Given the description of an element on the screen output the (x, y) to click on. 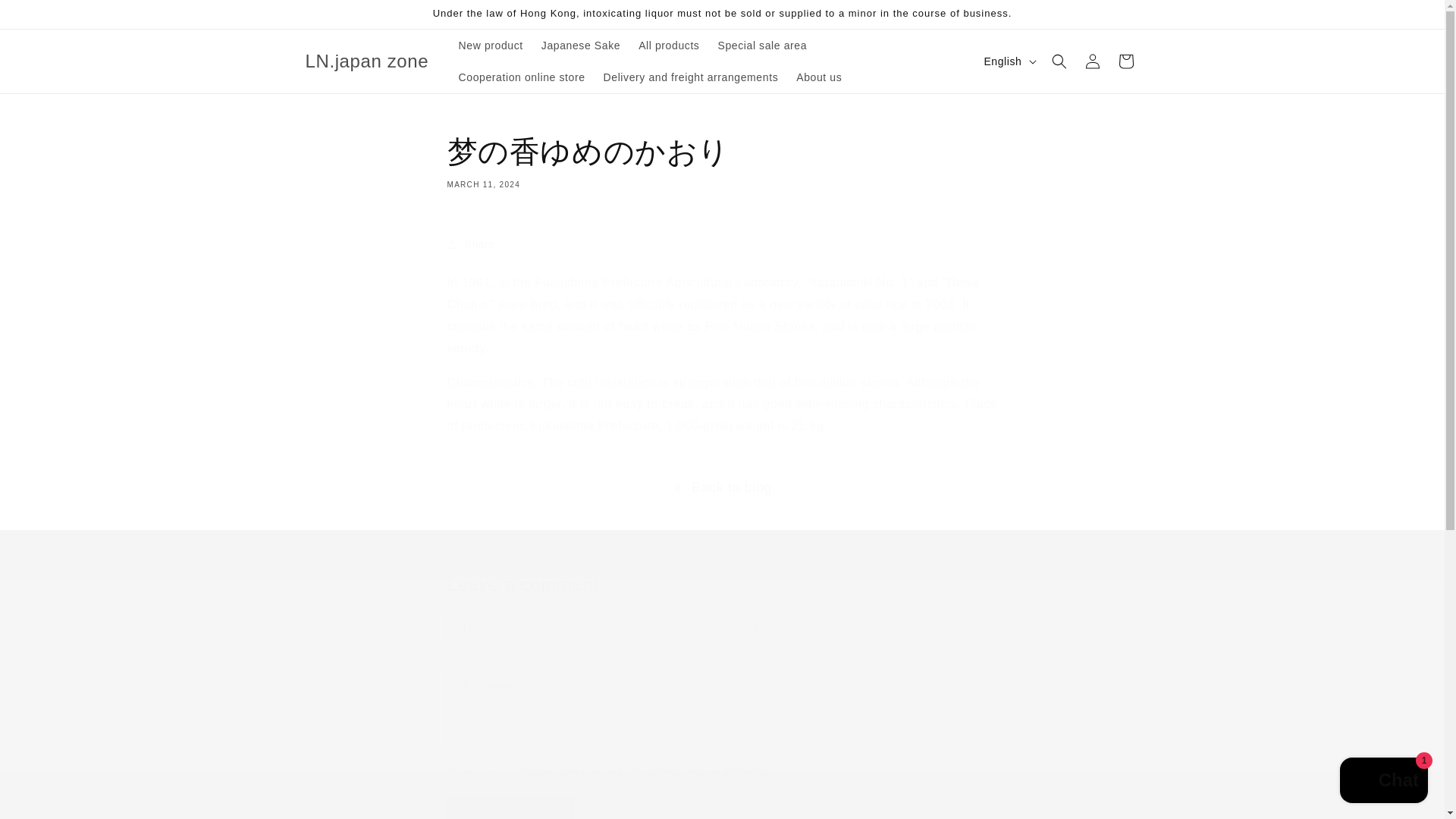
English (1008, 61)
LN.japan zone (366, 61)
Post comment (510, 807)
Post comment (510, 807)
Special sale area (761, 45)
Log in (1091, 61)
Cart (1124, 61)
Share (721, 244)
Delivery and freight arrangements (690, 77)
About us (818, 77)
Skip to content (45, 17)
All products (667, 45)
Shopify online store chat (1383, 781)
New product (490, 45)
Japanese Sake (580, 45)
